Given the description of an element on the screen output the (x, y) to click on. 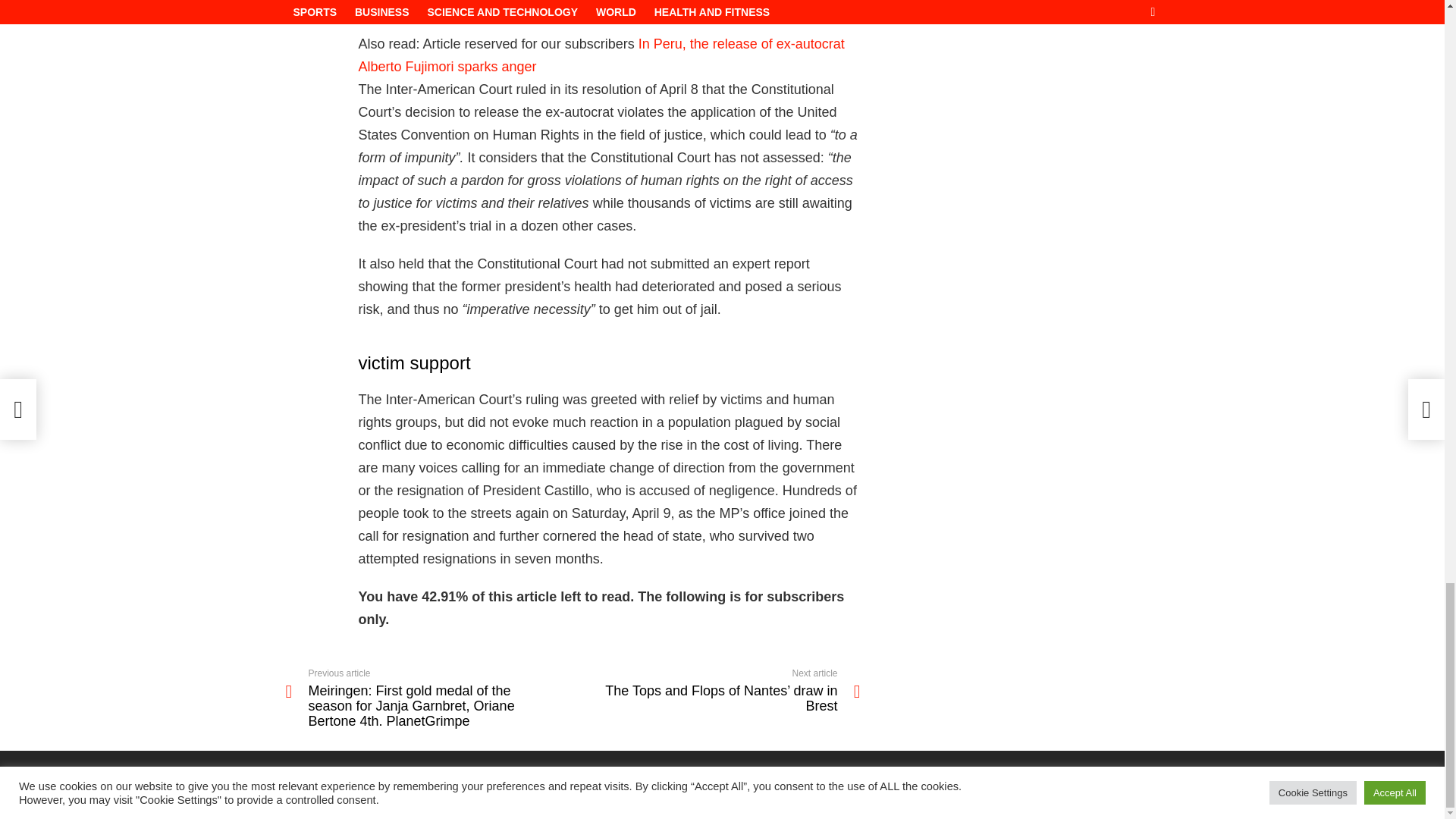
FAQ (1107, 800)
cookies privacy policy (989, 800)
Cookie Policy (899, 800)
cookies (1065, 800)
Home (1146, 800)
